Given the description of an element on the screen output the (x, y) to click on. 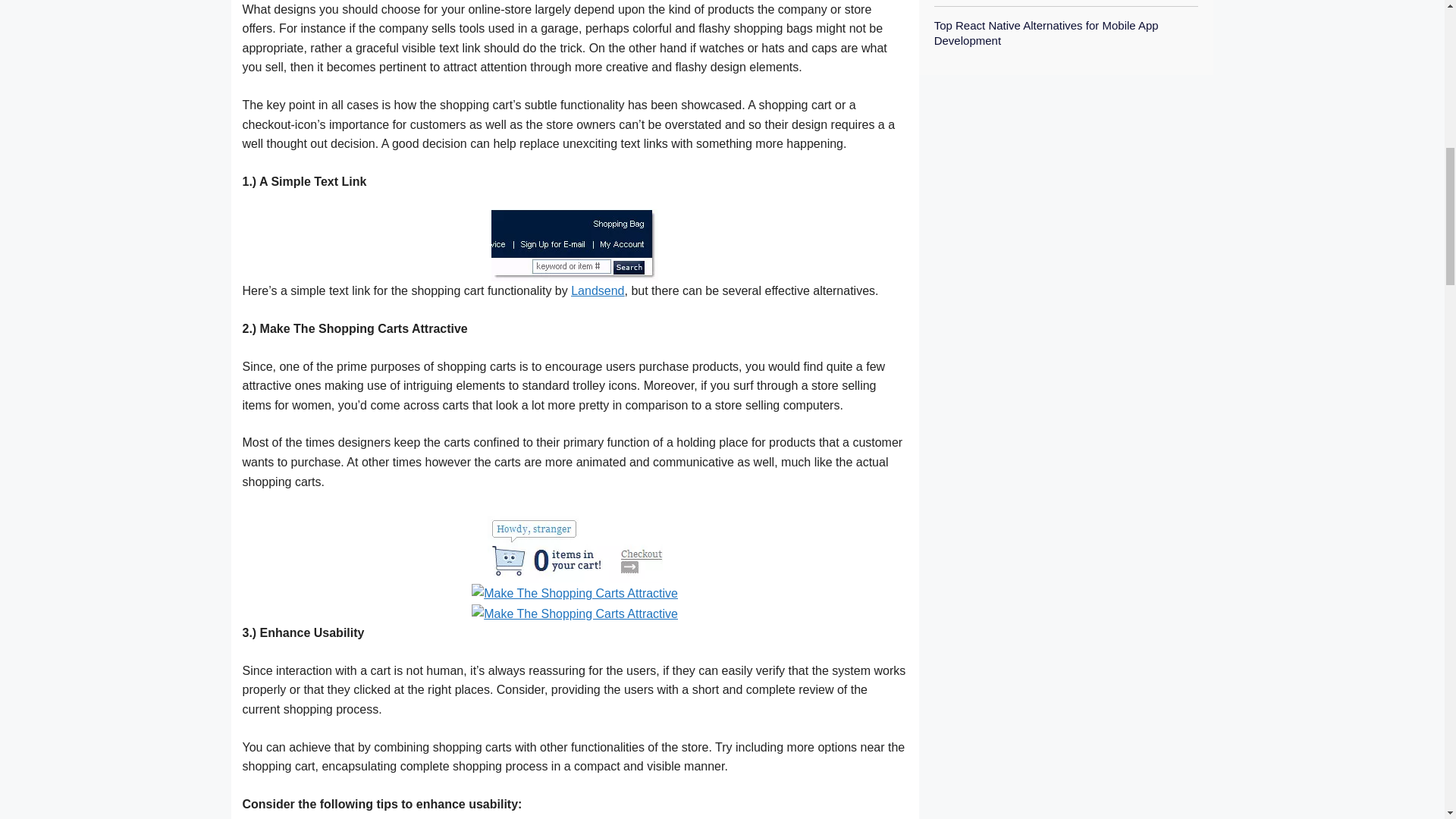
Make The Shopping Carts Attractive (574, 592)
Make The Shopping Carts Attractive (574, 545)
A Simple Text Link (575, 244)
Make The Shopping Carts Attractive (574, 612)
